Given the description of an element on the screen output the (x, y) to click on. 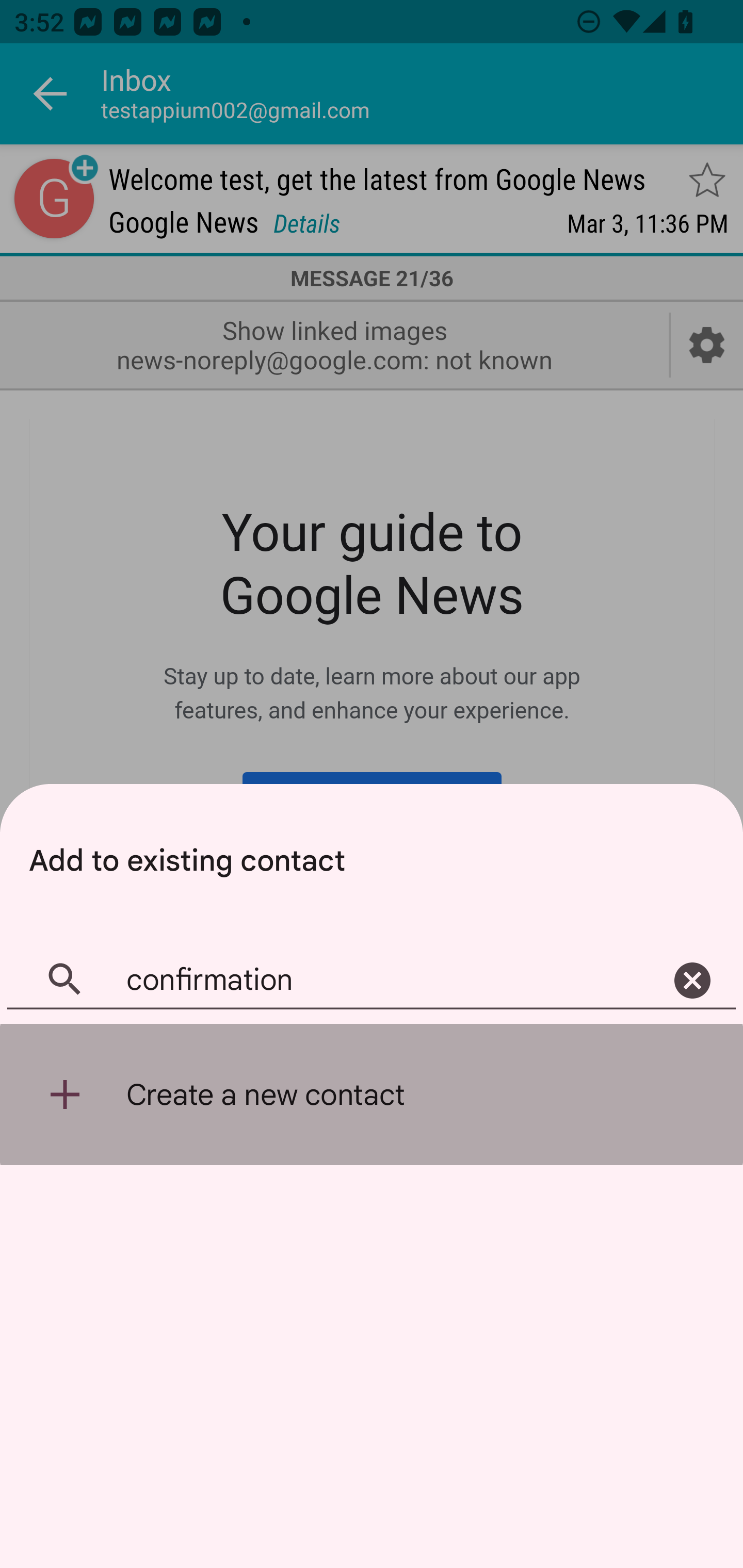
confirmation (371, 980)
Clear search (692, 980)
Create a new contact (371, 1094)
